Given the description of an element on the screen output the (x, y) to click on. 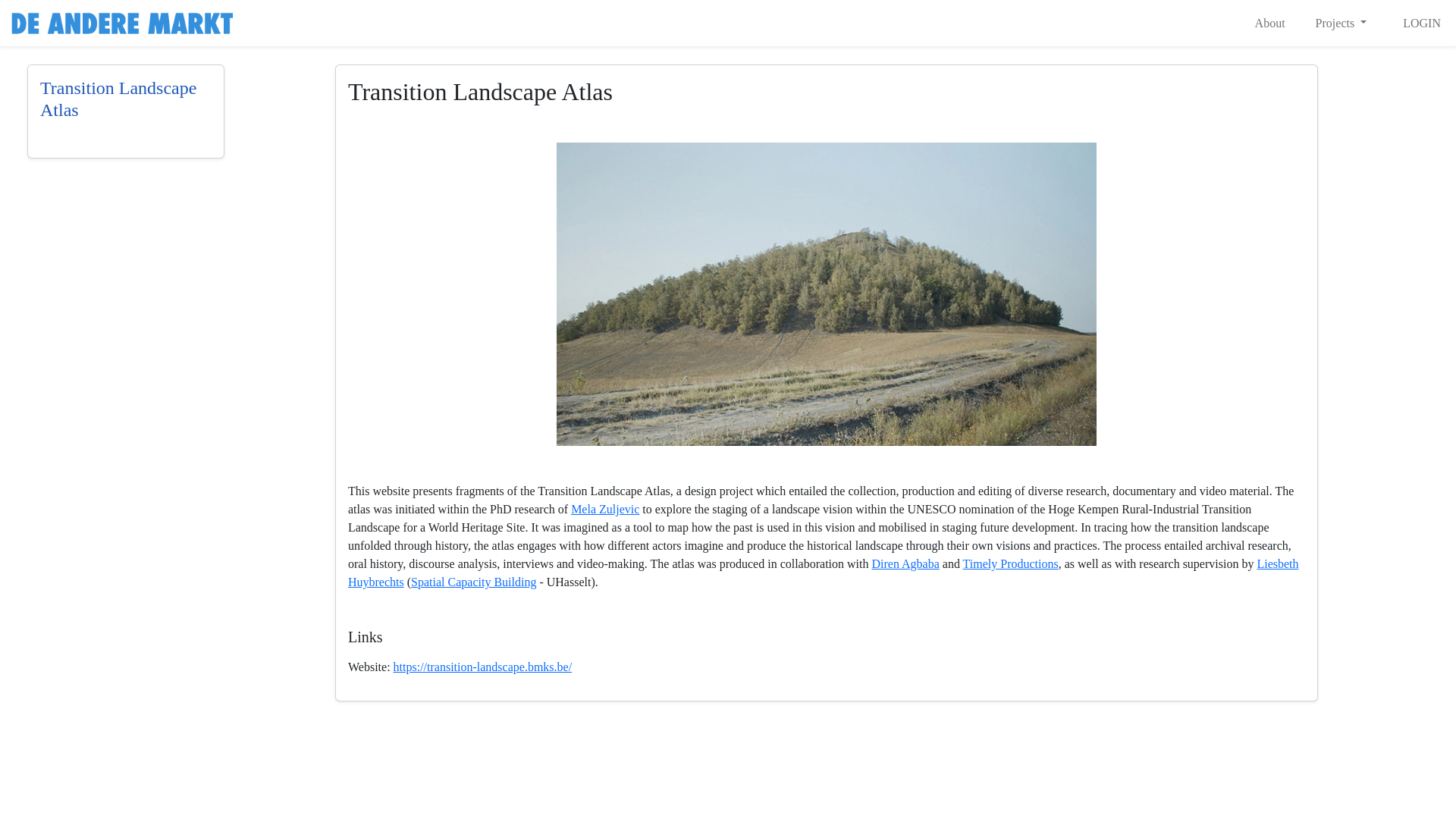
Projects (1340, 22)
About (1270, 22)
